Given the description of an element on the screen output the (x, y) to click on. 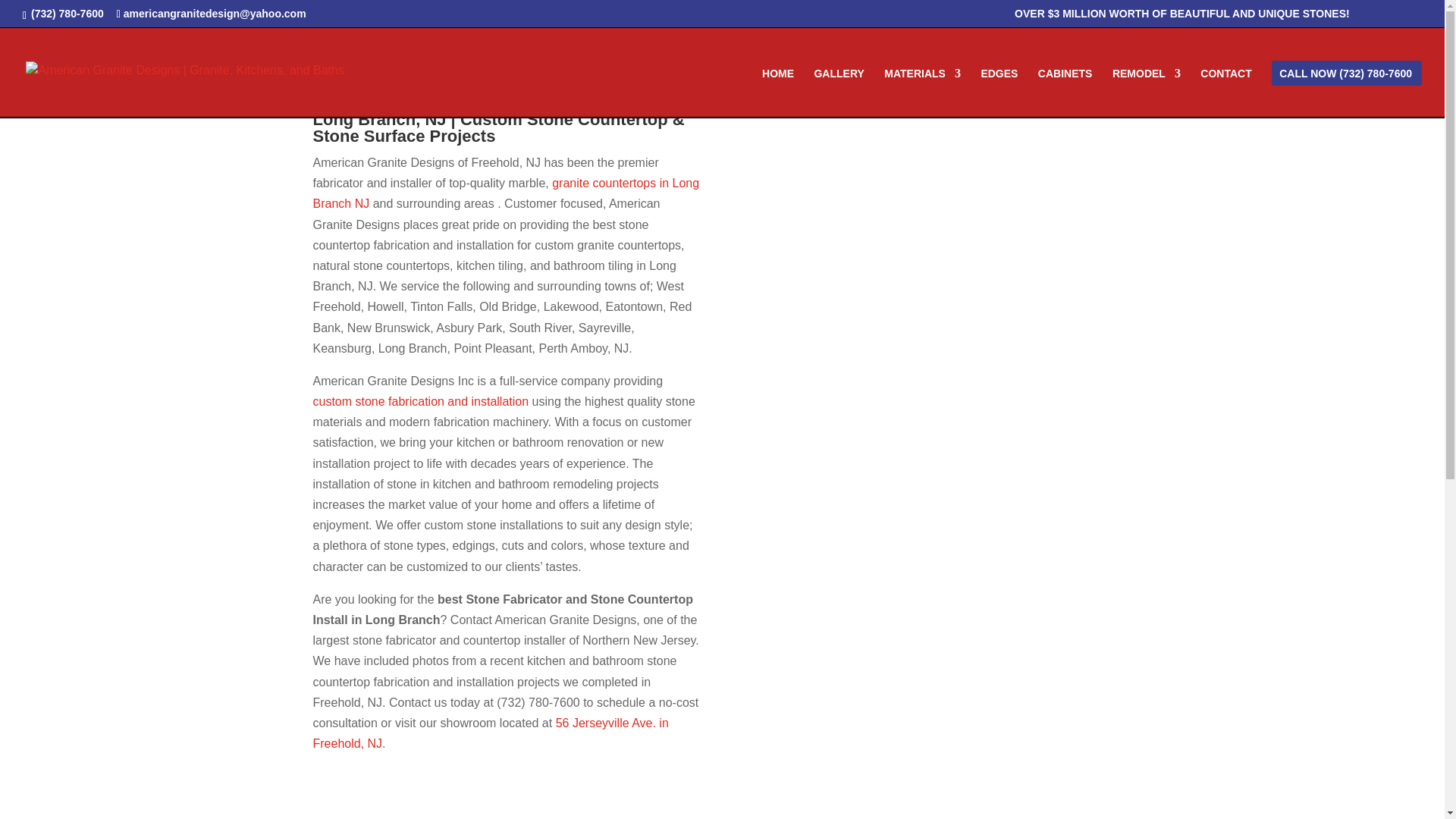
56 Jerseyville Ave. in Freehold, NJ (490, 733)
custom stone fabrication and installation (420, 400)
GALLERY (838, 92)
56 Jerseyville Ave. in Freehold, NJ (490, 733)
REMODEL (1146, 92)
granite countertops in Long Branch NJ (505, 192)
CABINETS (1065, 92)
CONTACT (1224, 92)
MATERIALS (921, 92)
